Given the description of an element on the screen output the (x, y) to click on. 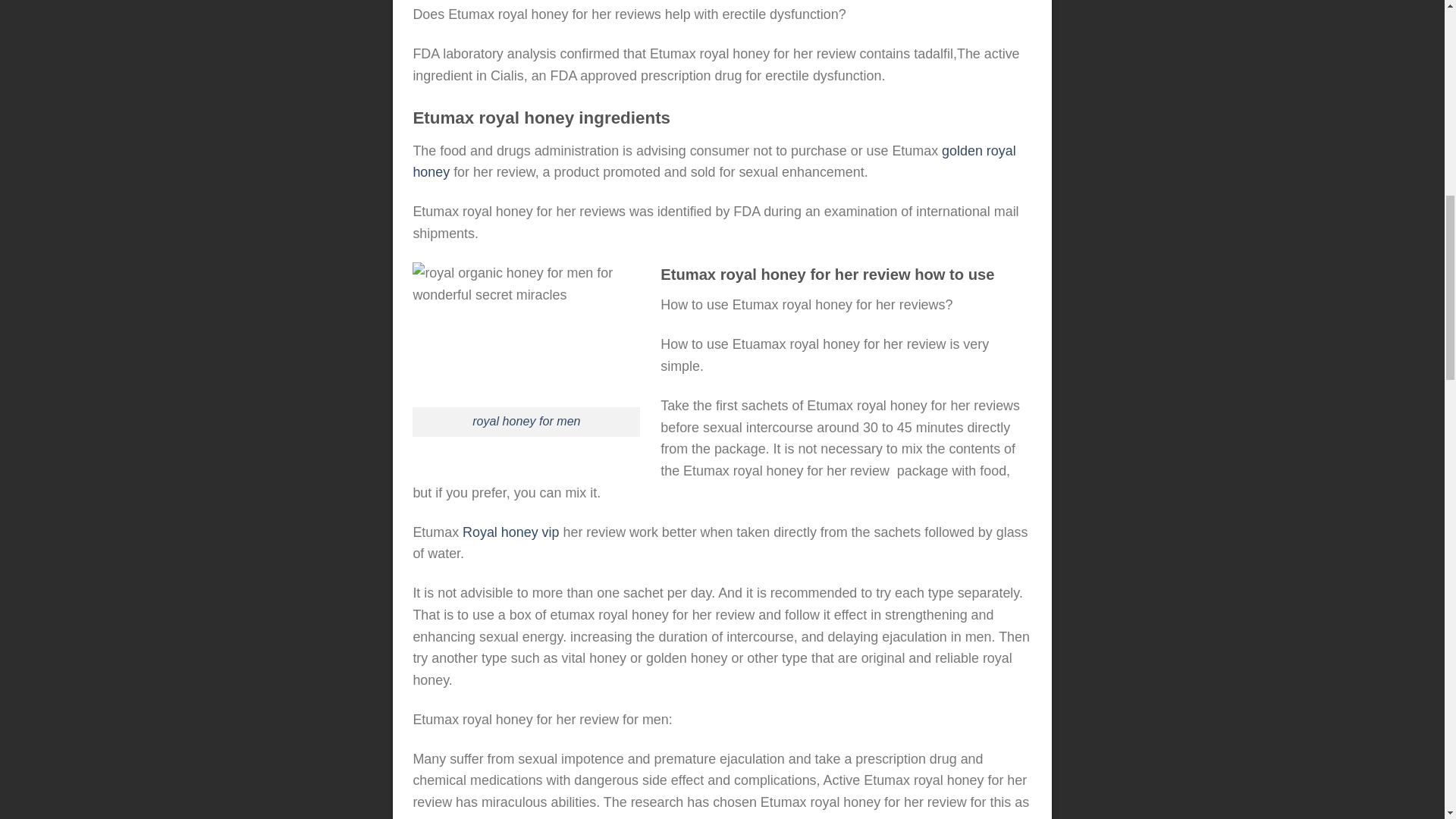
Royal honey vip (511, 531)
golden royal honey (713, 161)
royal honey for men (525, 420)
